Given the description of an element on the screen output the (x, y) to click on. 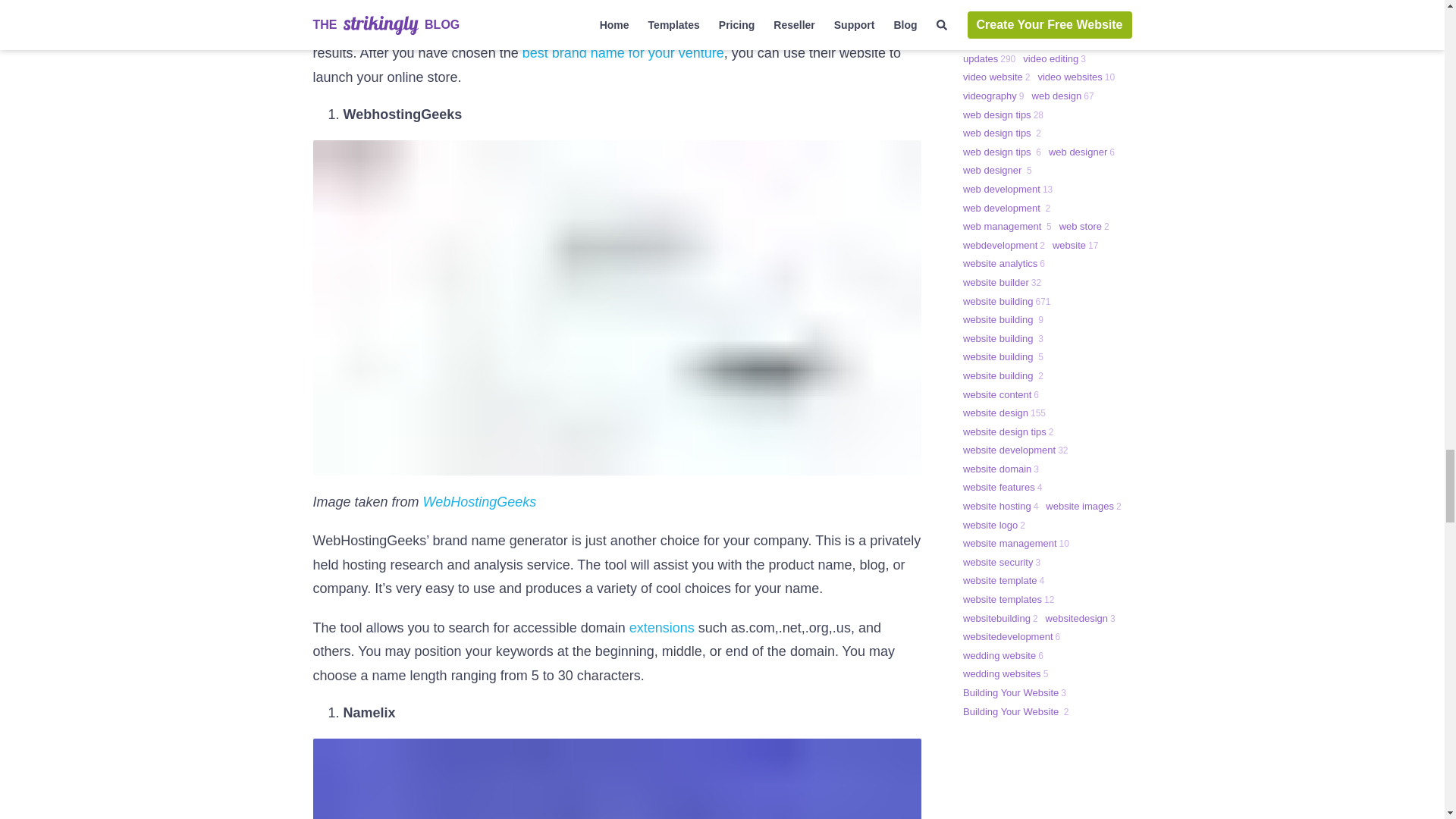
extensions (663, 627)
best brand name for your venture (622, 52)
WebHostingGeeks (480, 501)
